Given the description of an element on the screen output the (x, y) to click on. 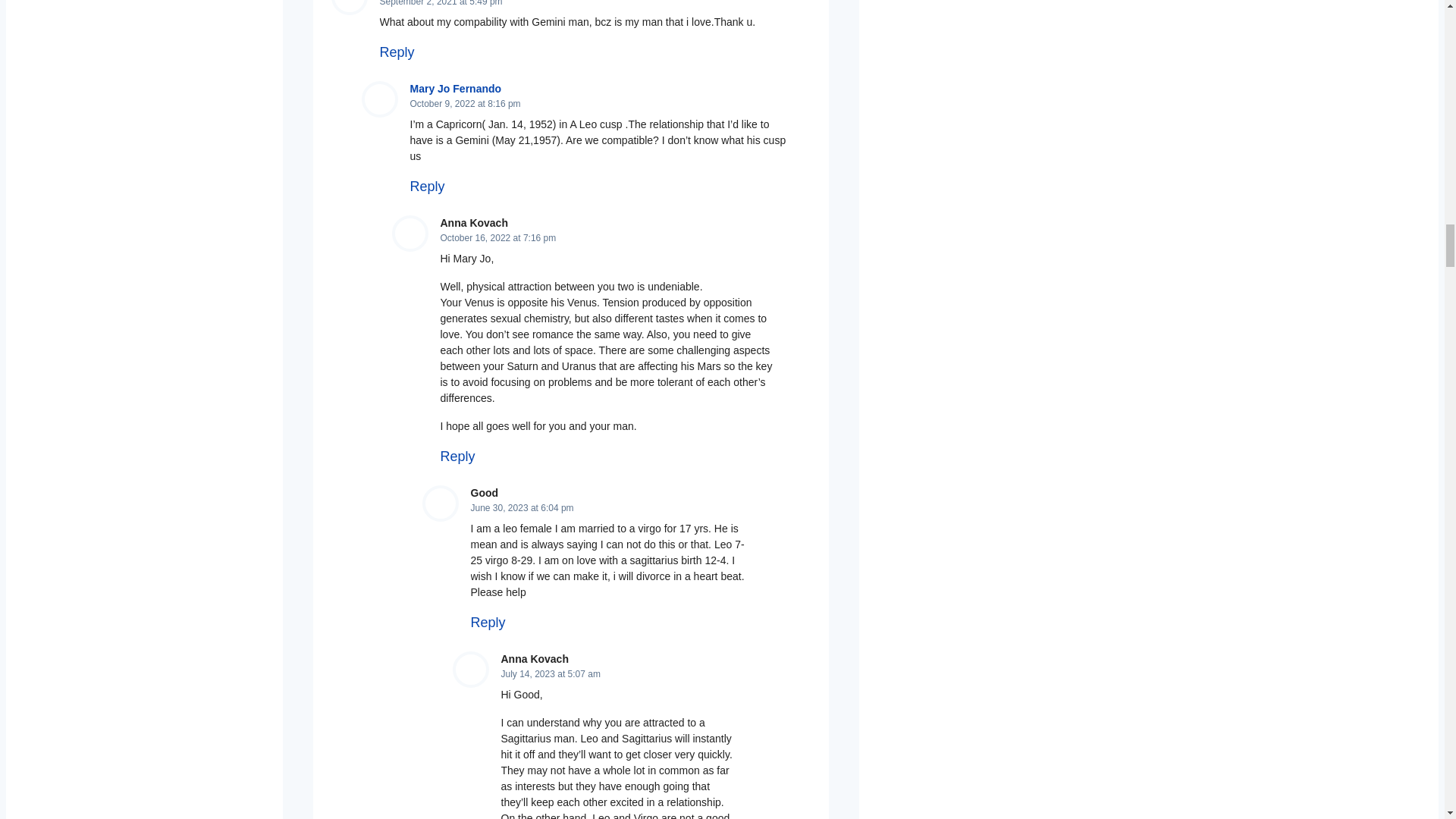
Reply (456, 456)
Mary Jo Fernando (454, 88)
October 9, 2022 at 8:16 pm (464, 103)
September 2, 2021 at 5:49 pm (440, 3)
Reply (426, 186)
October 16, 2022 at 7:16 pm (497, 237)
Reply (395, 52)
